Given the description of an element on the screen output the (x, y) to click on. 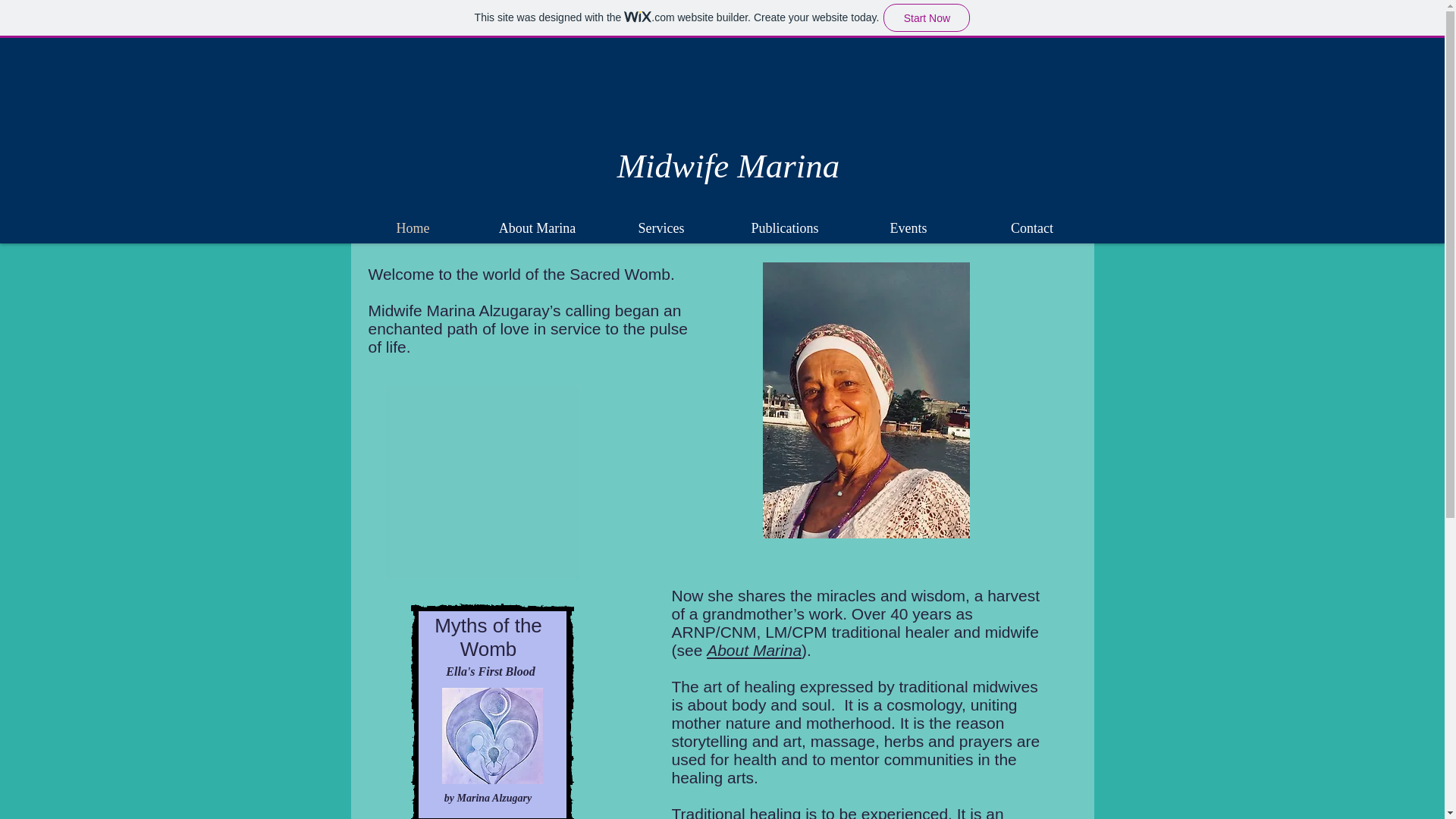
Events (907, 227)
Contact (1032, 227)
Publications (785, 227)
Services (660, 227)
Home (412, 227)
Midwife Marina (728, 166)
About Marina (754, 650)
About Marina (536, 227)
